Given the description of an element on the screen output the (x, y) to click on. 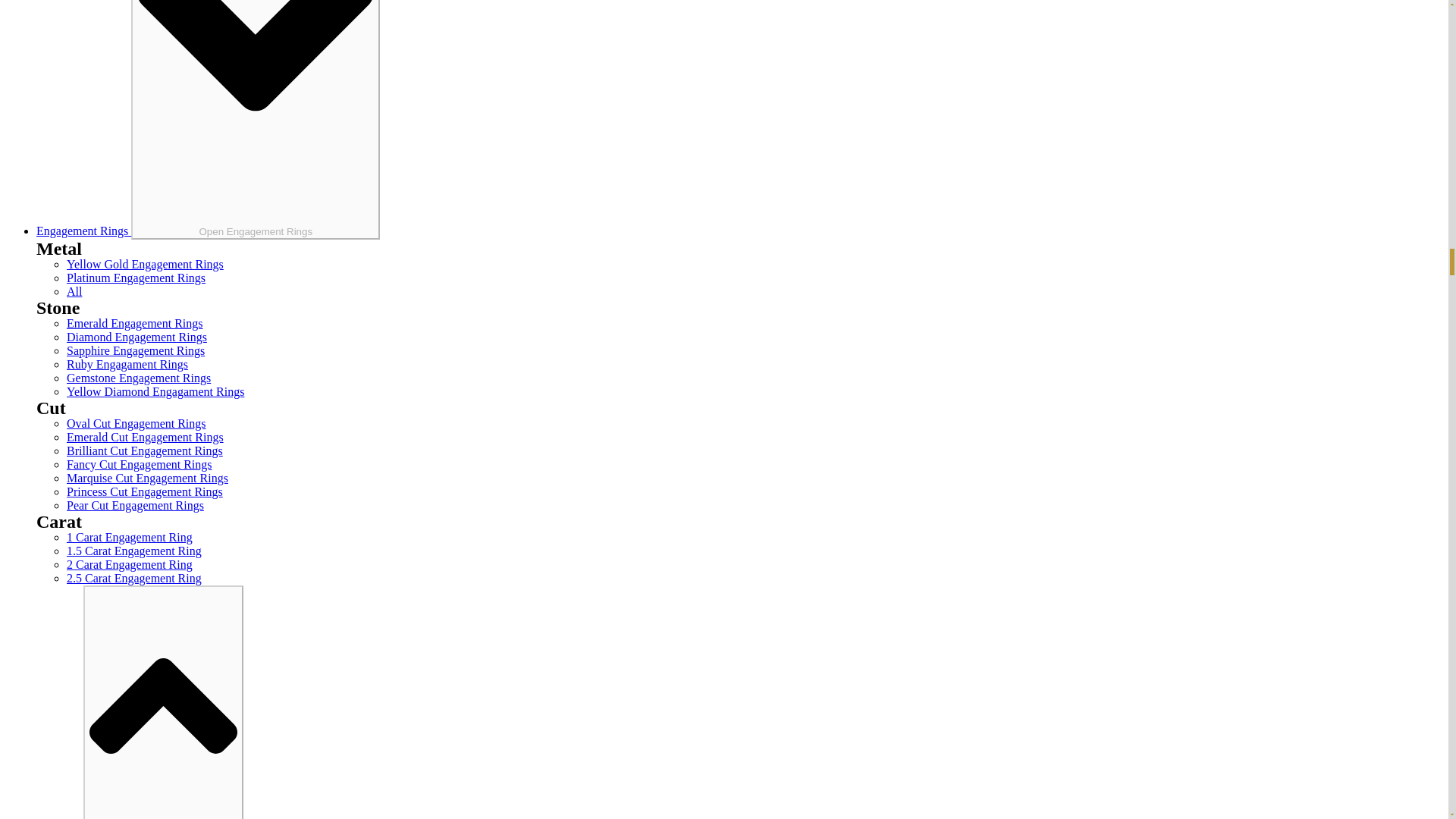
All (73, 291)
Yellow Gold Engagement Rings (145, 264)
Ruby Engagament Rings (126, 364)
Close Engagement Rings Open Engagement Rings (255, 119)
Engagement Rings (83, 230)
Yellow Diamond Engagament Rings (155, 391)
Diamond Engagement Rings (136, 336)
Sapphire Engagement Rings (135, 350)
Emerald Cut Engagement Rings (145, 436)
Platinum Engagement Rings (135, 277)
Gemstone Engagement Rings (138, 377)
Brilliant Cut Engagement Rings (144, 450)
Oval Cut Engagement Rings (136, 422)
Emerald Engagement Rings (134, 323)
